Given the description of an element on the screen output the (x, y) to click on. 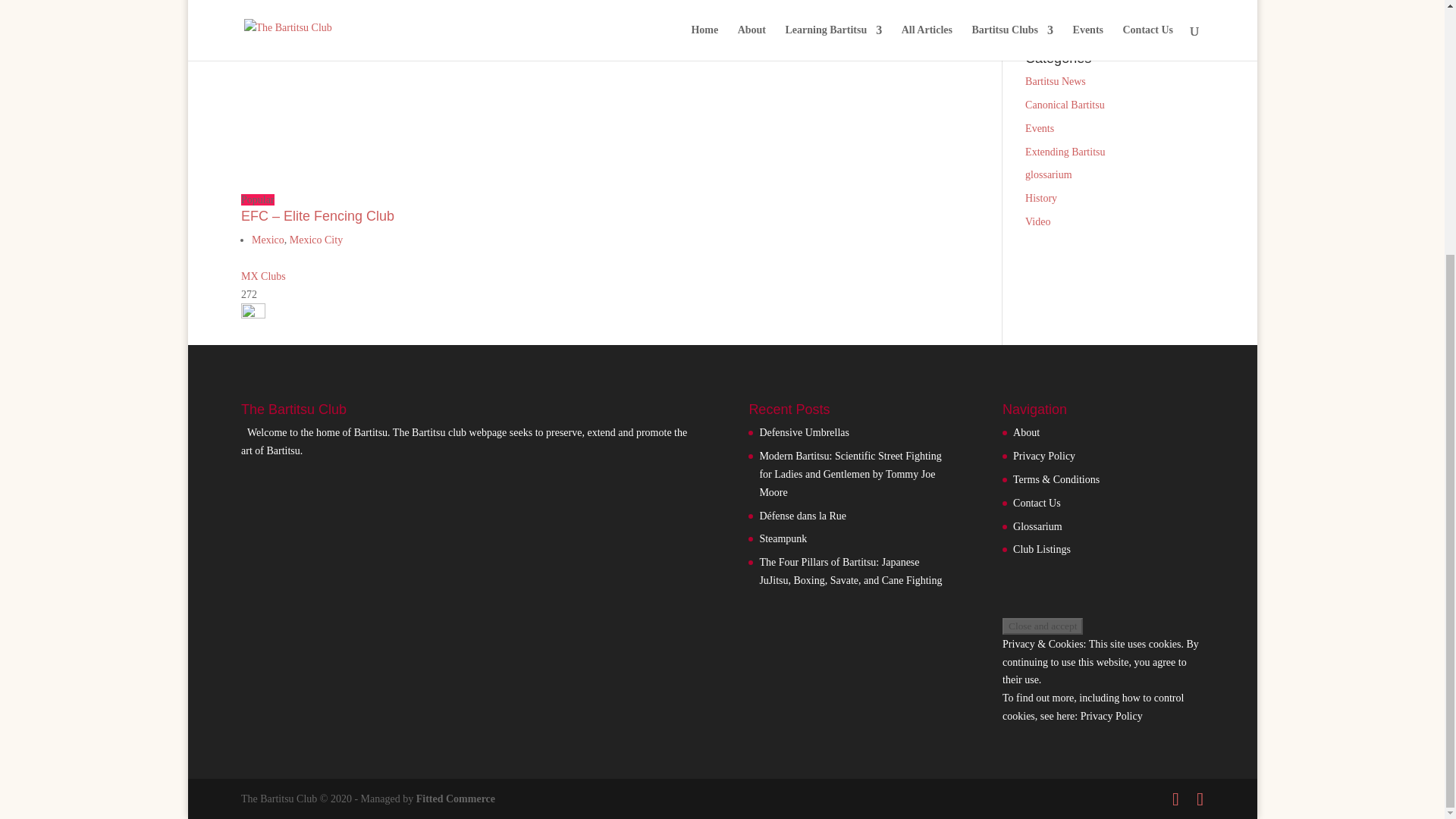
Bartitsu News (1055, 81)
Close and accept (1043, 626)
Canonical Bartitsu (1065, 104)
Mexico (267, 239)
Search (1180, 14)
Mexico City (315, 239)
MX Clubs (263, 276)
Search (1180, 14)
